Given the description of an element on the screen output the (x, y) to click on. 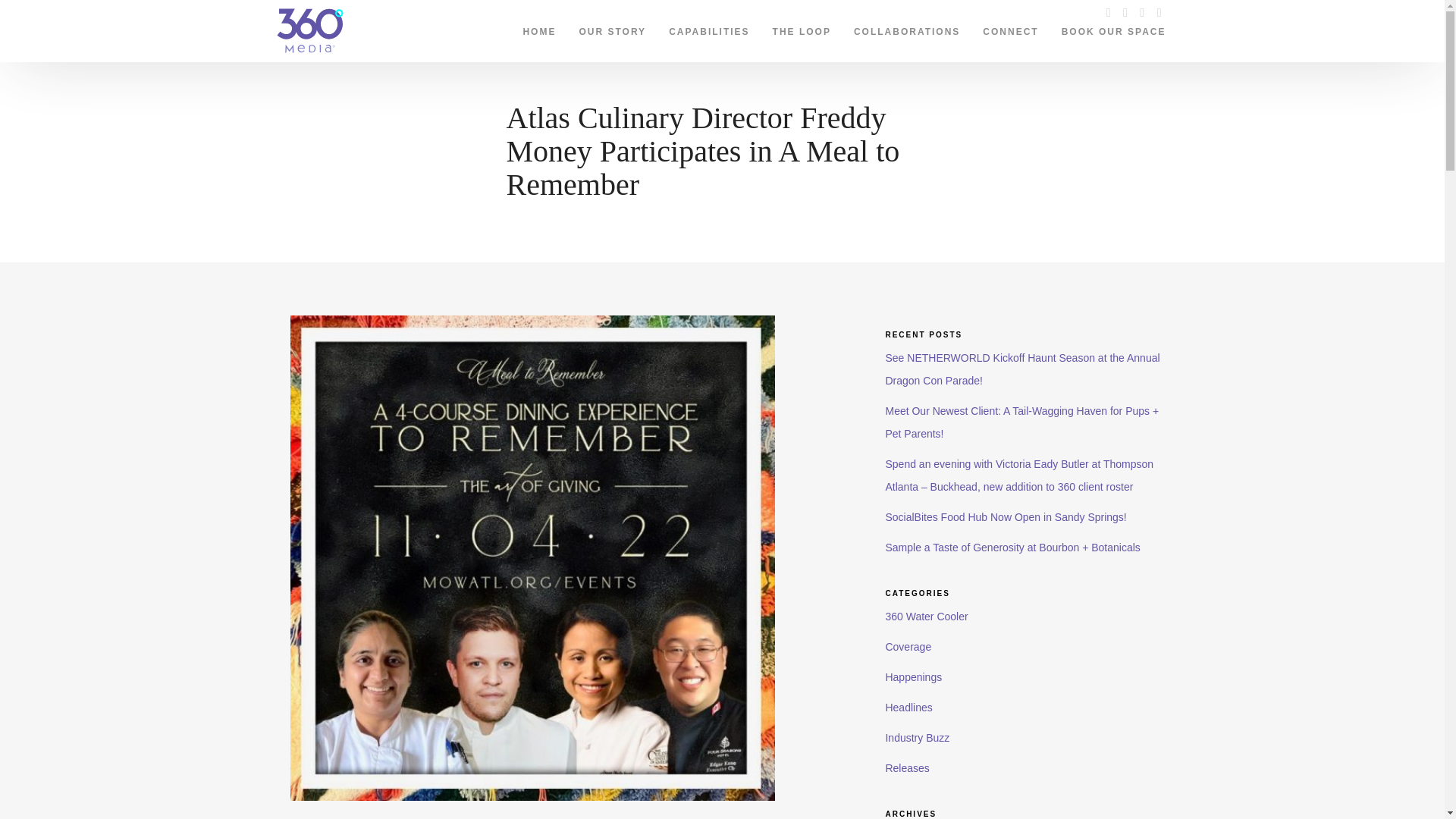
Releases (906, 767)
BOOK OUR SPACE (1113, 28)
CONNECT (1010, 28)
HOME (539, 28)
OUR STORY (612, 28)
CAPABILITIES (709, 28)
COLLABORATIONS (907, 28)
Happenings (913, 676)
THE LOOP (802, 28)
